Given the description of an element on the screen output the (x, y) to click on. 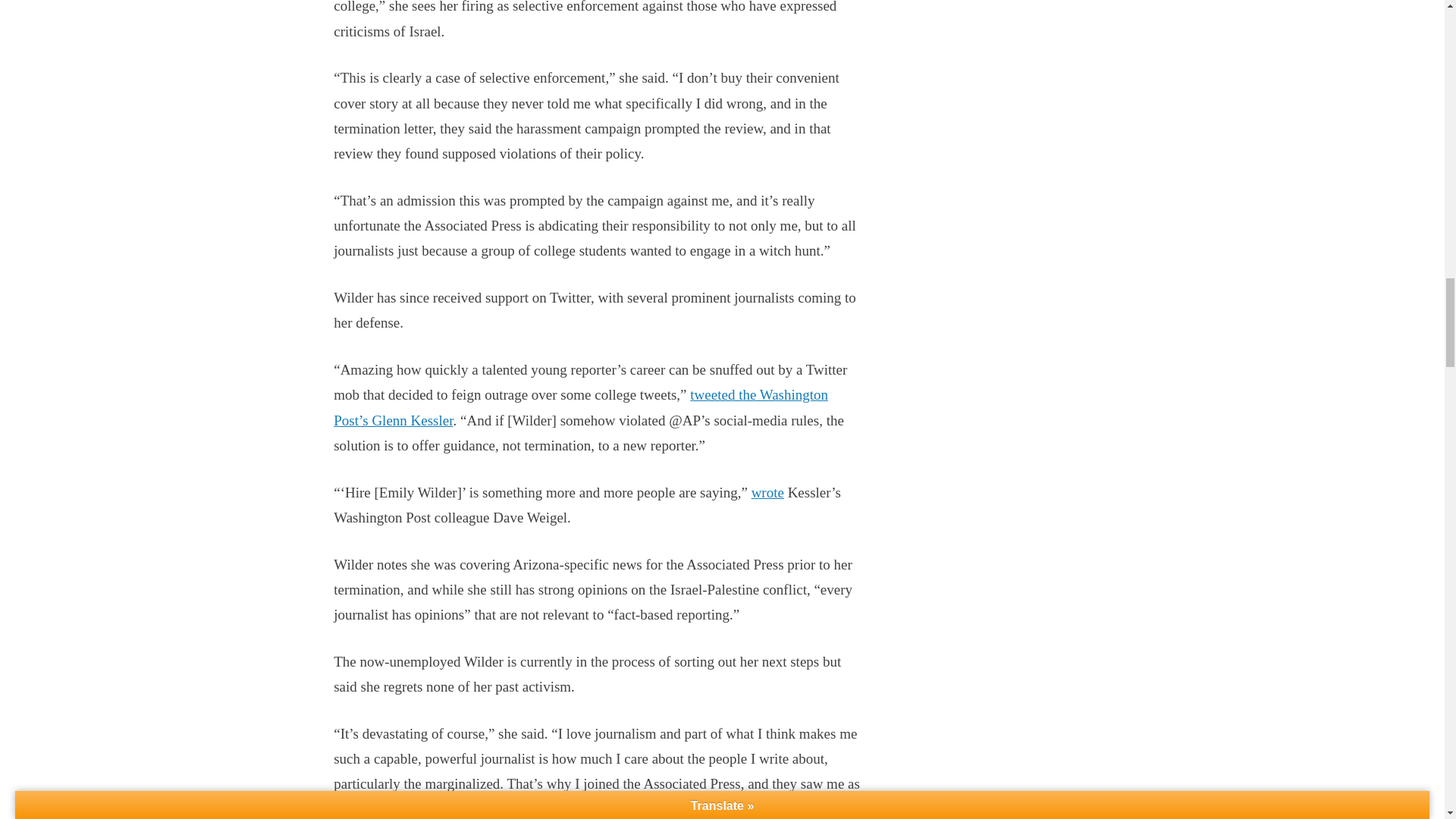
wrote (767, 492)
